Given the description of an element on the screen output the (x, y) to click on. 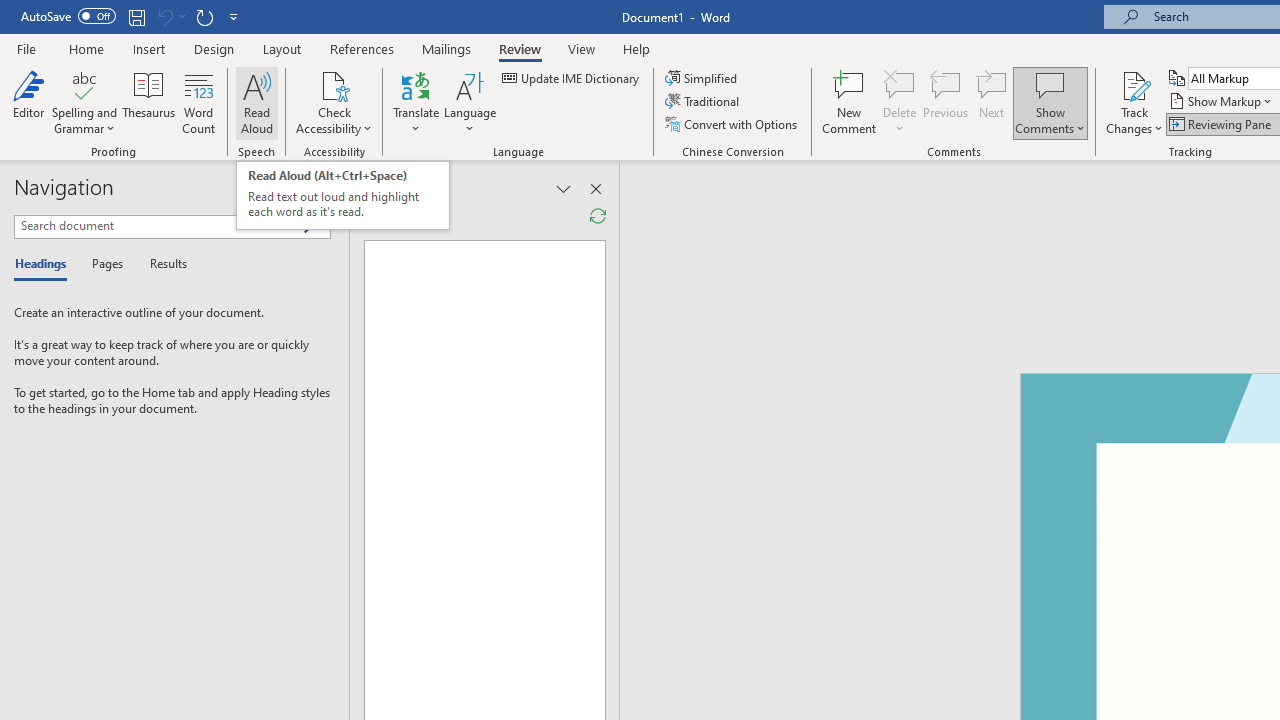
New Comment (849, 102)
Layout (282, 48)
Delete (900, 102)
Track Changes (1134, 102)
Mailings (447, 48)
AutoSave (68, 16)
Search document (157, 226)
Translate (415, 102)
Close pane (325, 188)
Simplified (702, 78)
Search (315, 227)
Show Markup (1222, 101)
Editor (28, 102)
File Tab (26, 48)
